Given the description of an element on the screen output the (x, y) to click on. 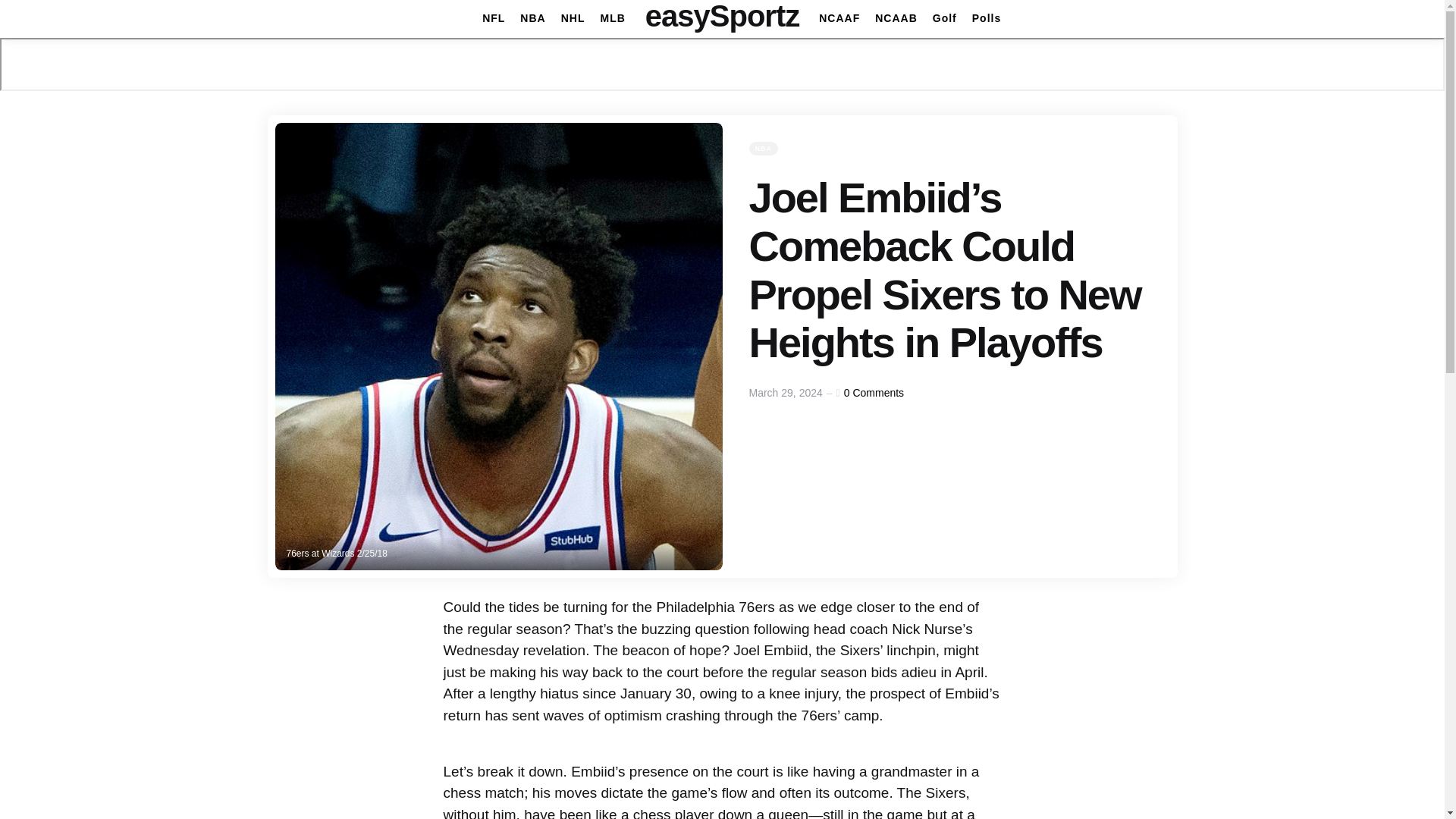
NFL (493, 18)
Polls (986, 18)
Golf (944, 18)
0 Comments (874, 392)
NBA (531, 18)
easySportz (722, 15)
MLB (611, 18)
NCAAB (896, 18)
NCAAF (839, 18)
NBA (763, 148)
